Given the description of an element on the screen output the (x, y) to click on. 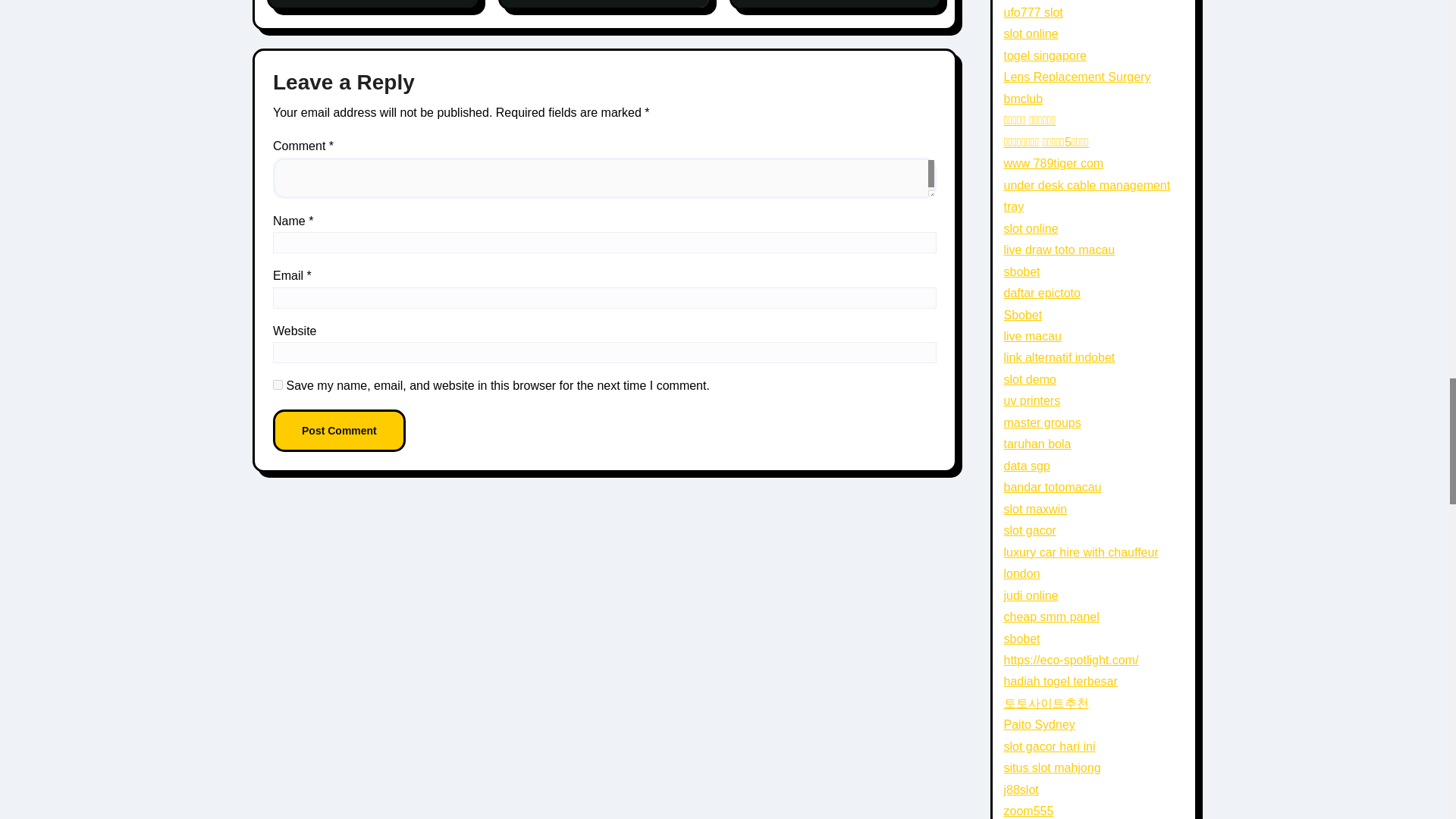
Post Comment (339, 430)
yes (277, 384)
